Given the description of an element on the screen output the (x, y) to click on. 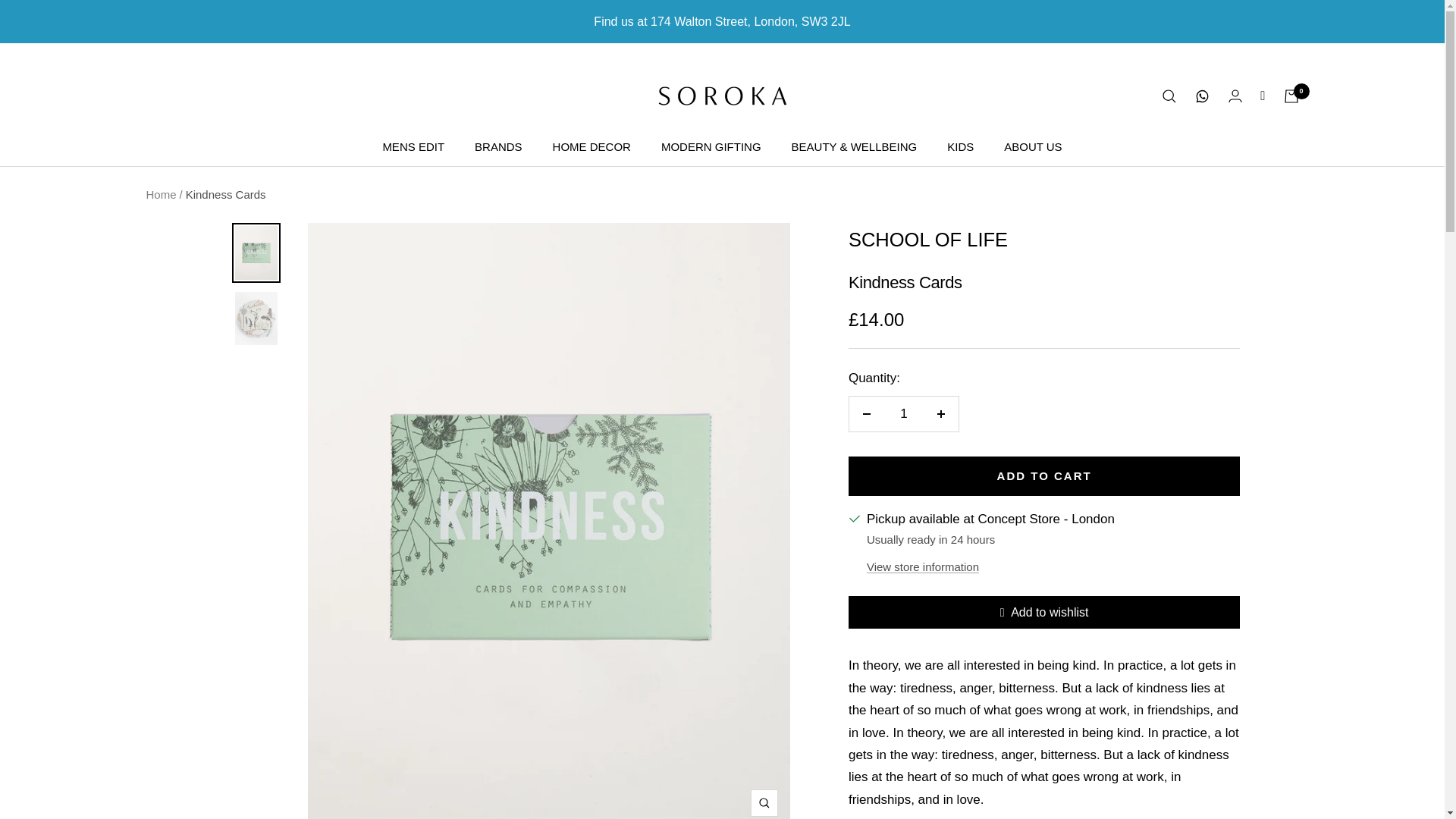
0 (1290, 96)
BRANDS (498, 146)
1 (903, 413)
MENS EDIT (413, 146)
Soroka (722, 95)
BRANDS (498, 146)
MENS EDIT (413, 146)
